Given the description of an element on the screen output the (x, y) to click on. 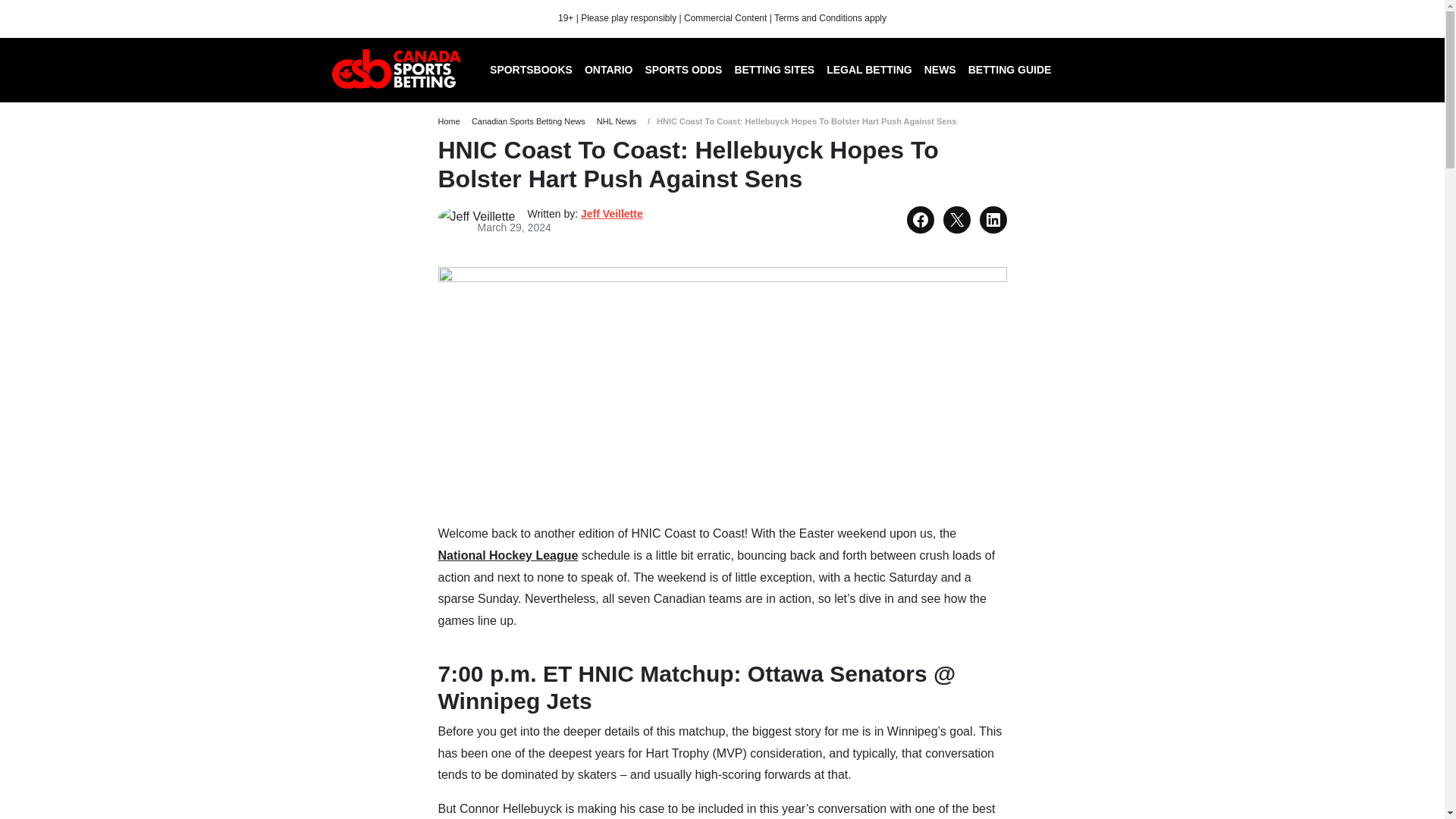
SPORTS ODDS (683, 71)
BETTING SITES (774, 71)
SPORTSBOOKS (530, 71)
ONTARIO (608, 71)
SPORTSBOOKS (530, 71)
